Given the description of an element on the screen output the (x, y) to click on. 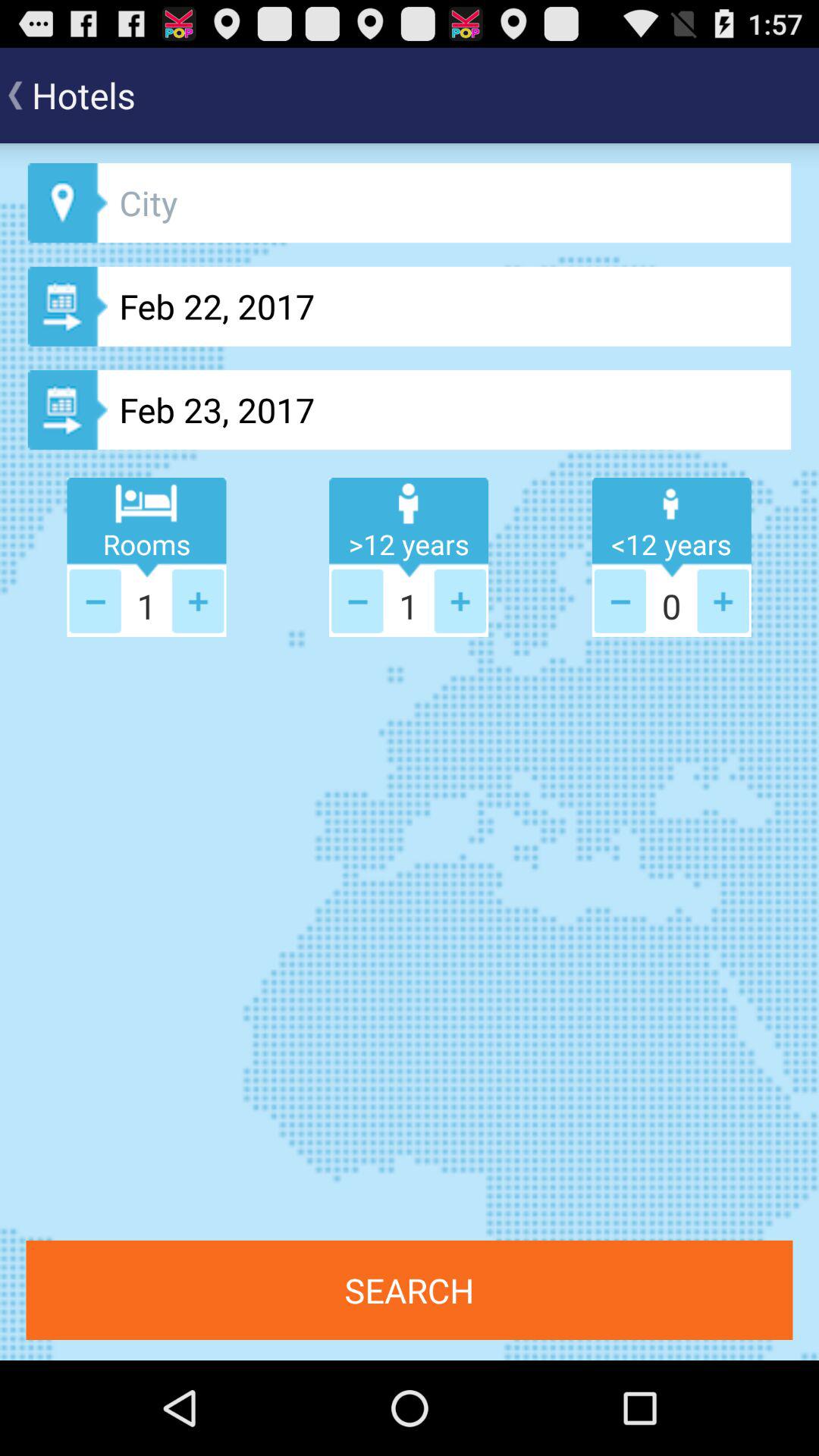
select the decrease of rooms (95, 601)
